Given the description of an element on the screen output the (x, y) to click on. 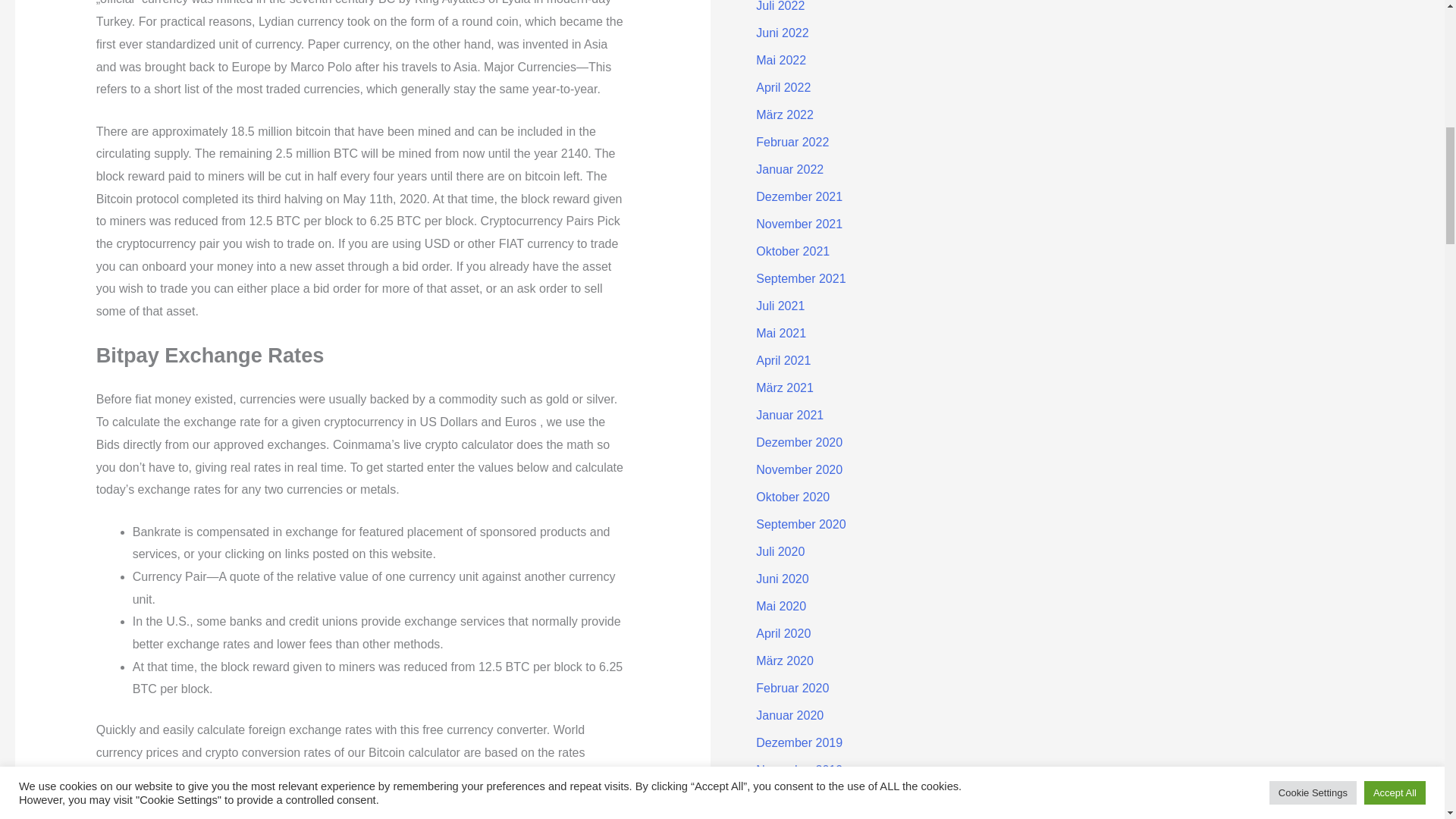
Juni 2022 (781, 32)
Dezember 2021 (799, 196)
September 2021 (800, 278)
Oktober 2021 (792, 250)
April 2022 (782, 87)
Mai 2022 (780, 60)
Januar 2022 (789, 169)
Juli 2022 (780, 6)
November 2021 (799, 223)
Februar 2022 (791, 141)
